Given the description of an element on the screen output the (x, y) to click on. 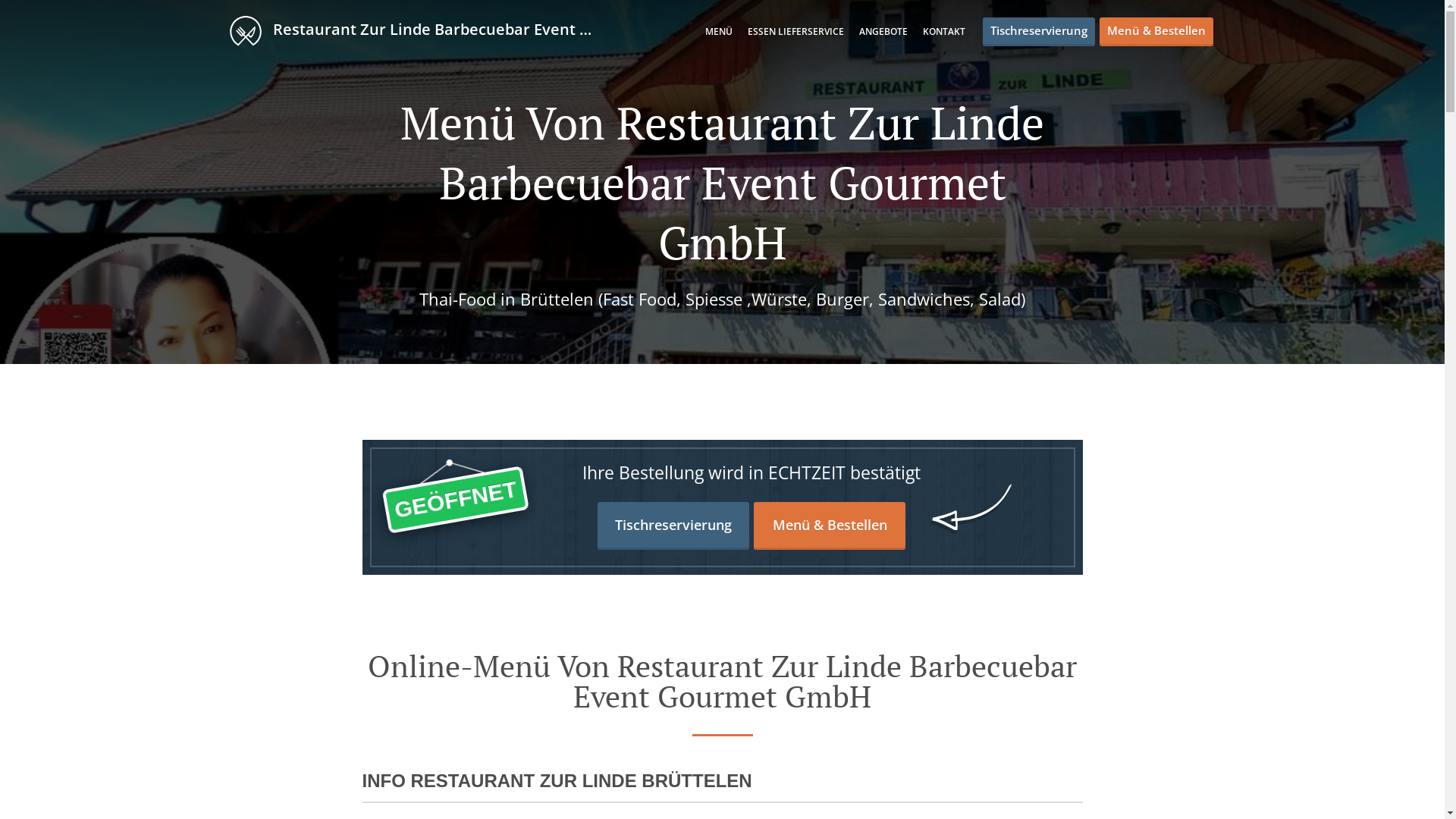
ANGEBOTE Element type: text (882, 31)
ESSEN LIEFERSERVICE Element type: text (795, 31)
 Restaurant Zur Linde Barbecuebar Event Gourmet GmbH Element type: text (422, 30)
KONTAKT Element type: text (943, 31)
